Given the description of an element on the screen output the (x, y) to click on. 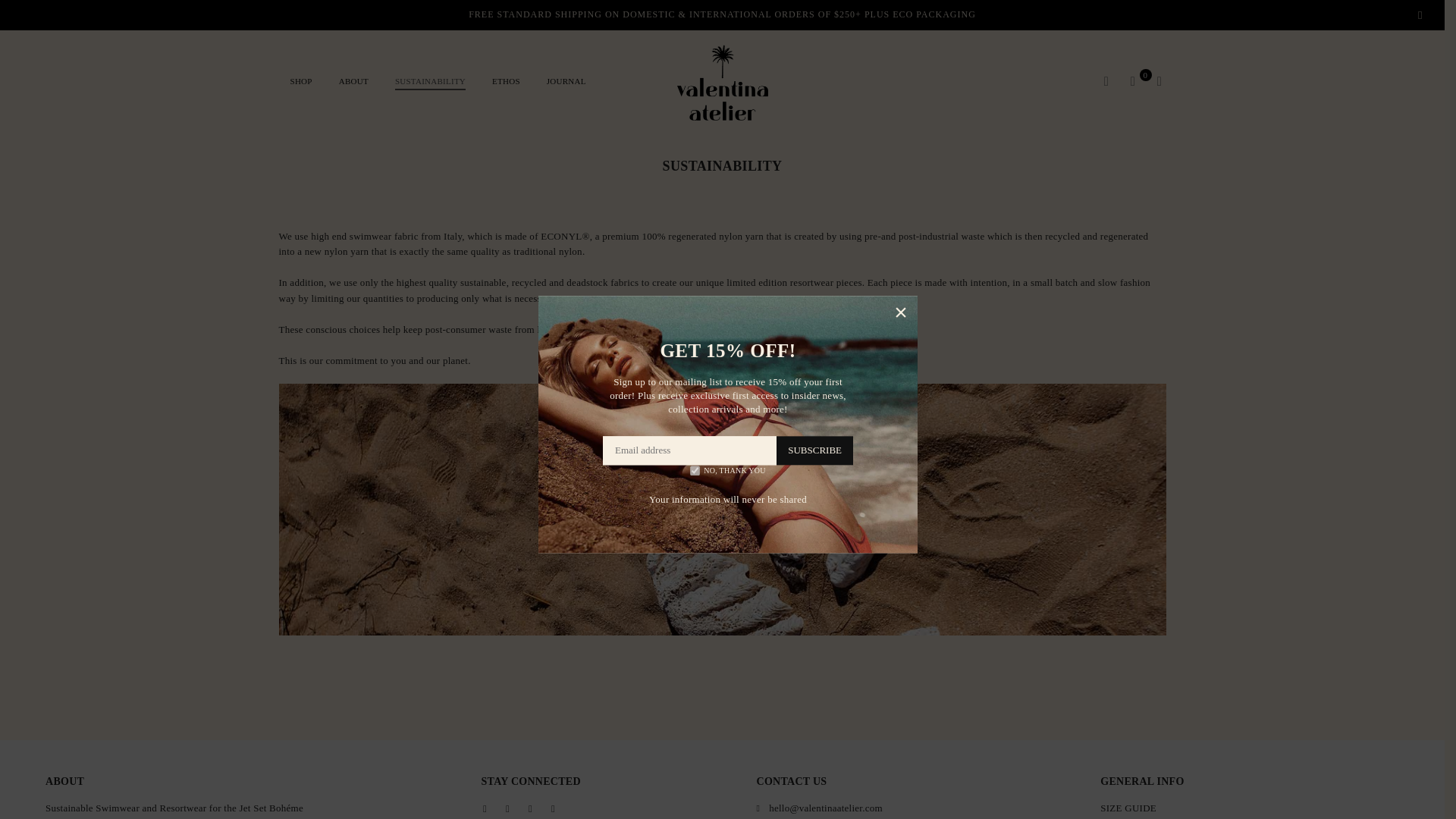
Instagram (552, 808)
CART (1132, 82)
SUSTAINABILITY (430, 82)
VALENTINA ATELIER (722, 82)
Facebook (484, 808)
on (695, 470)
VALENTINA ATELIER on Twitter (507, 808)
VALENTINA ATELIER on Pinterest (529, 808)
SEARCH (1106, 82)
VALENTINA ATELIER on Facebook (484, 808)
ETHOS (505, 82)
JOURNAL (565, 82)
Twitter (507, 808)
VALENTINA ATELIER on Instagram (552, 808)
0 (1132, 82)
